Given the description of an element on the screen output the (x, y) to click on. 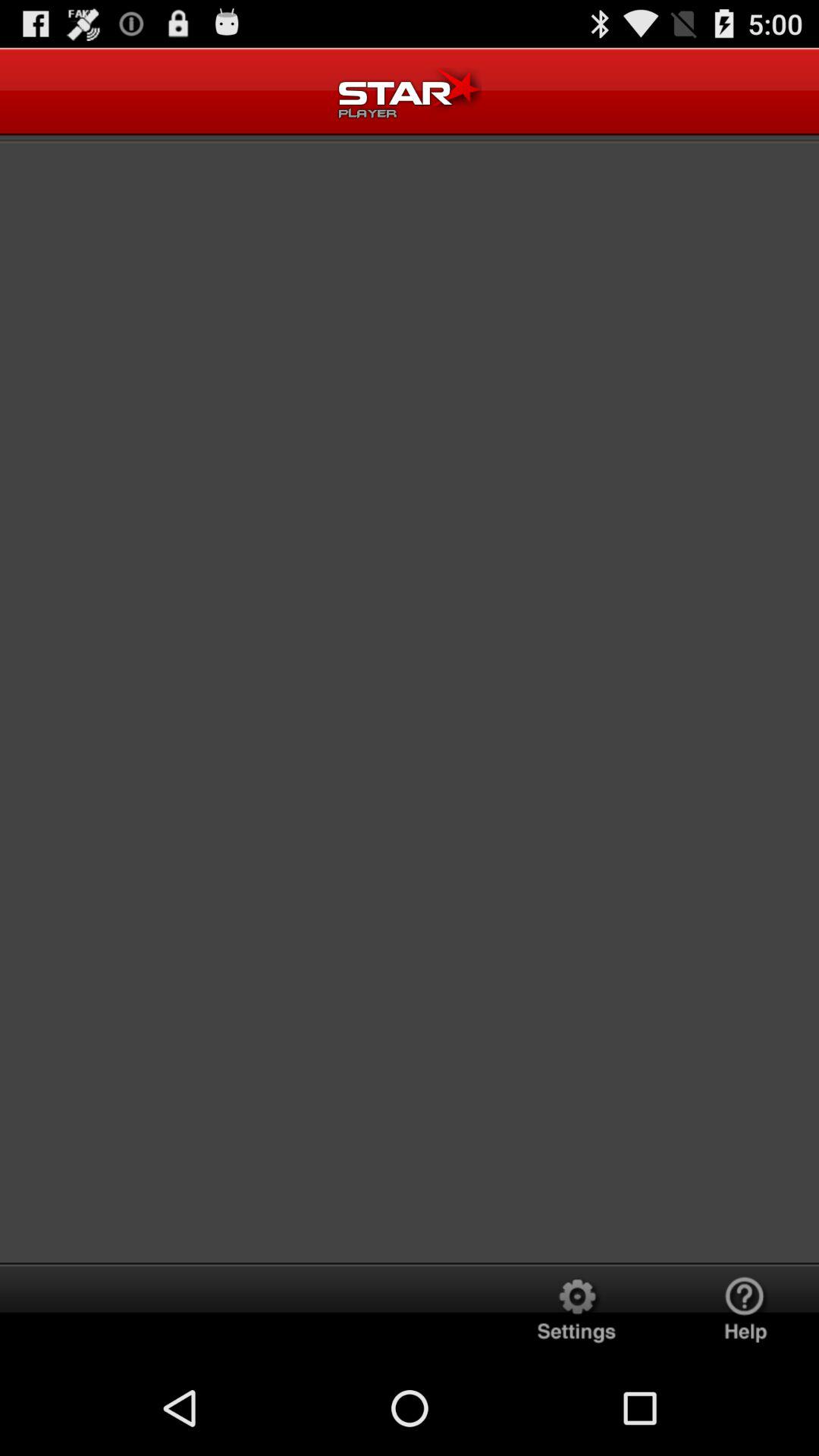
help (745, 1311)
